Given the description of an element on the screen output the (x, y) to click on. 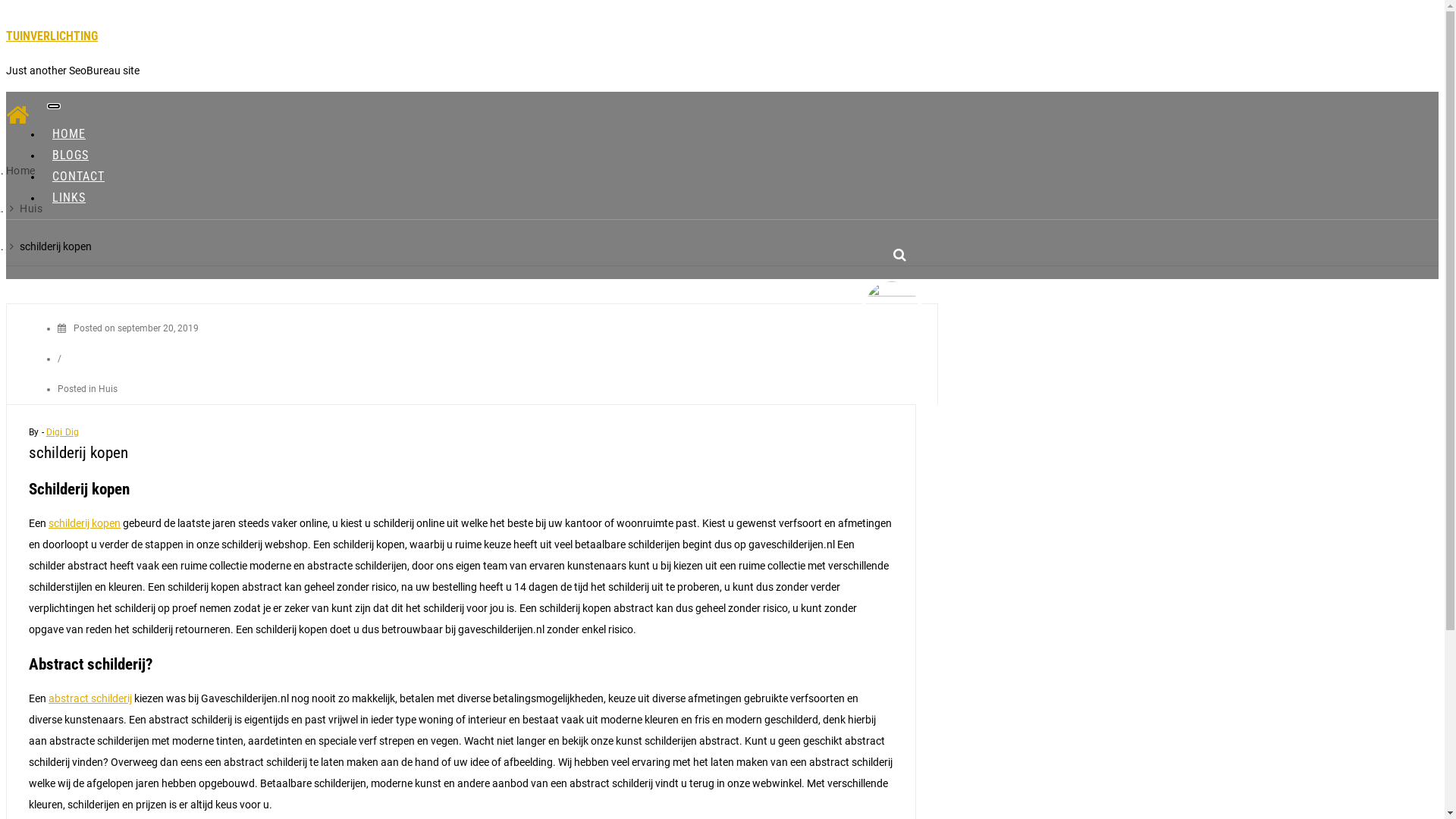
Digi Dig Element type: text (62, 431)
Skip to content Element type: text (5, 5)
Home Element type: text (20, 170)
BLOGS Element type: text (70, 154)
september 20, 2019 Element type: text (157, 328)
CONTACT Element type: text (78, 175)
LINKS Element type: text (68, 197)
Toggle navigation Element type: text (53, 105)
TUINVERLICHTING Element type: text (51, 35)
search_icon Element type: hover (899, 254)
Huis Element type: text (107, 388)
schilderij kopen Element type: text (84, 523)
HOME Element type: text (68, 133)
Huis Element type: text (30, 208)
abstract schilderij Element type: text (89, 698)
